Given the description of an element on the screen output the (x, y) to click on. 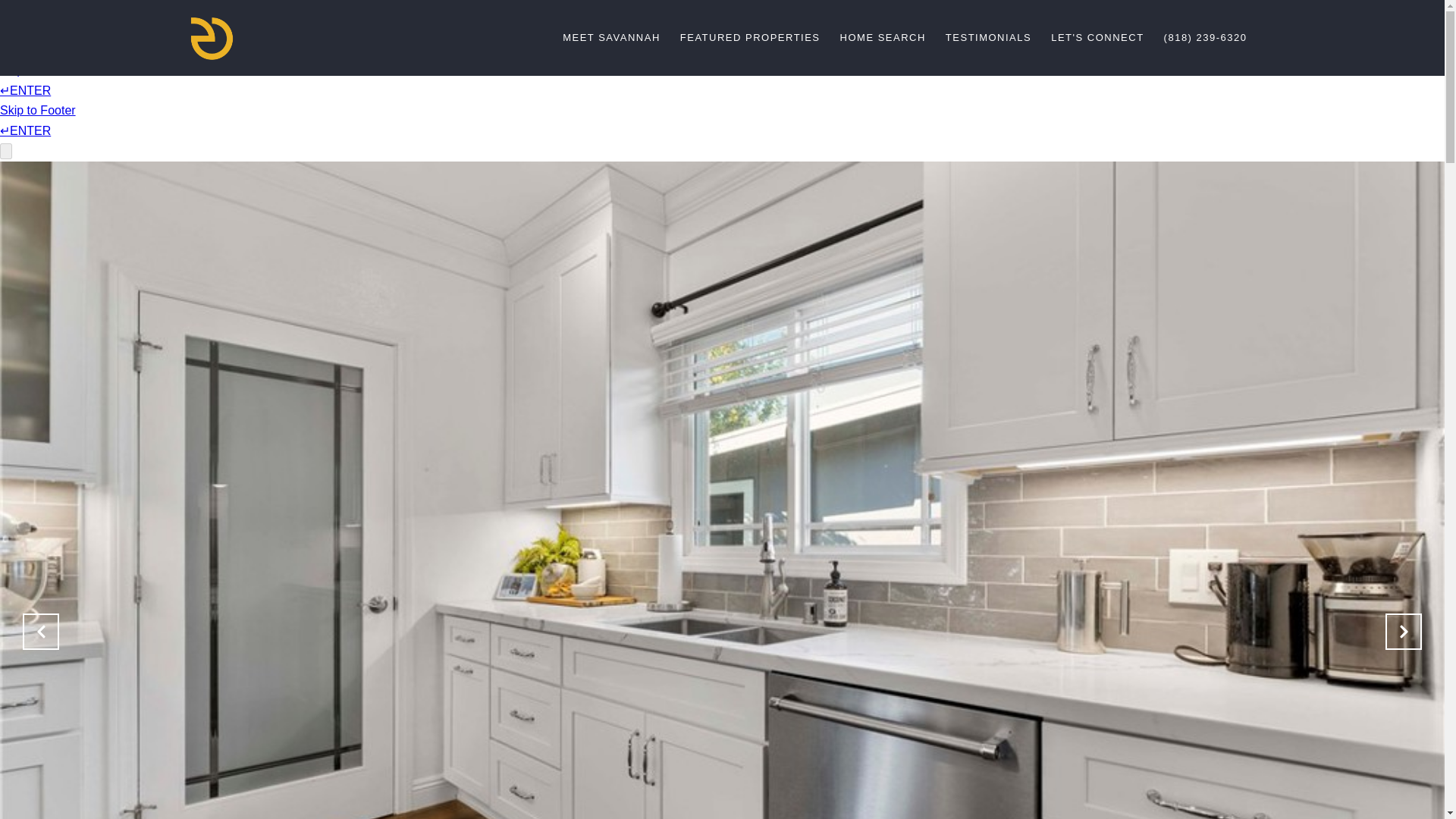
FEATURED PROPERTIES (749, 37)
HOME SEARCH (882, 37)
TESTIMONIALS (988, 37)
LET'S CONNECT (1097, 37)
MEET SAVANNAH (611, 37)
